Given the description of an element on the screen output the (x, y) to click on. 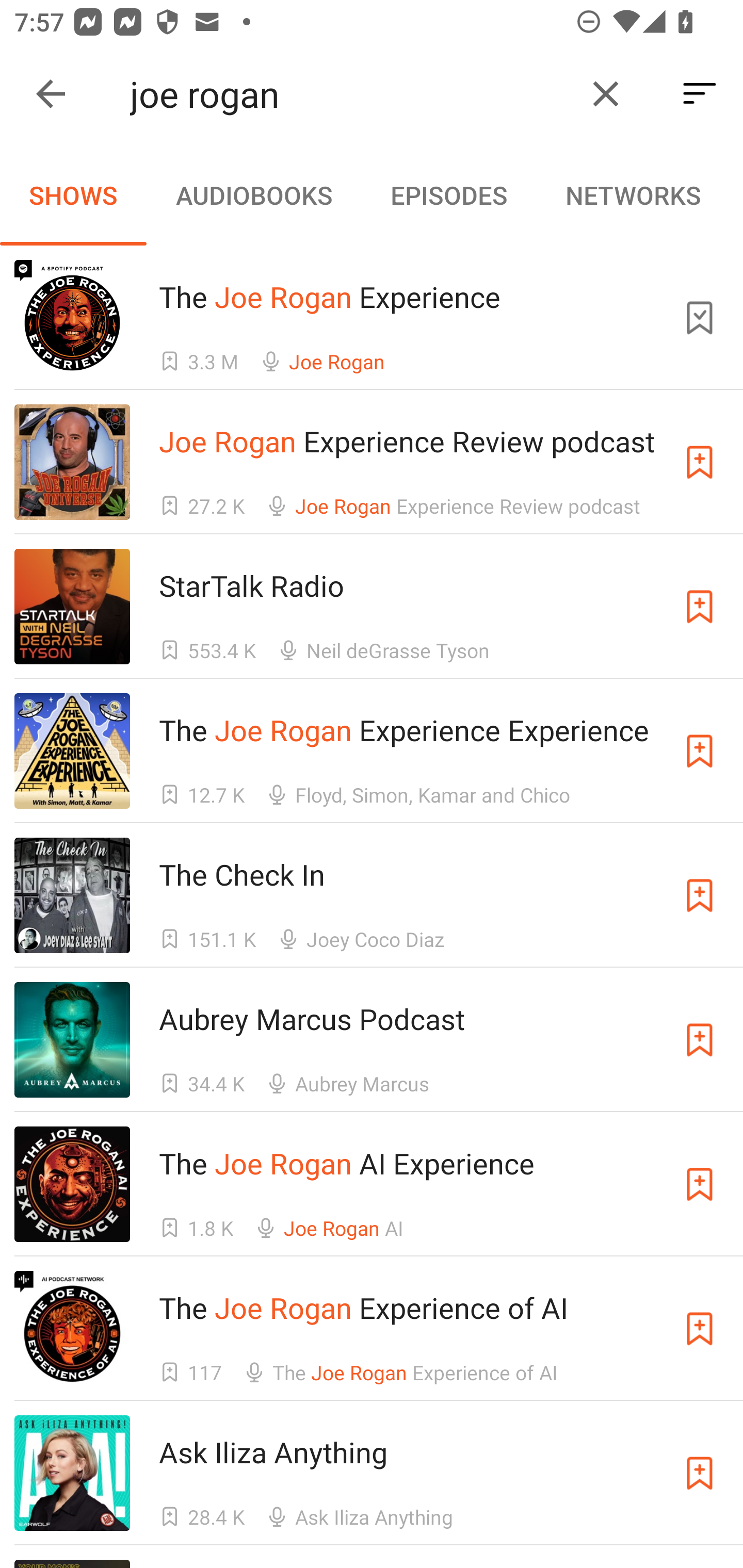
Collapse (50, 93)
Clear query (605, 93)
Sort By (699, 93)
joe rogan (349, 94)
SHOWS (73, 195)
AUDIOBOOKS (253, 195)
EPISODES (448, 195)
NETWORKS (632, 195)
Unsubscribe (699, 317)
Subscribe (699, 462)
Subscribe (699, 606)
Subscribe (699, 751)
Subscribe (699, 895)
Subscribe (699, 1039)
